Given the description of an element on the screen output the (x, y) to click on. 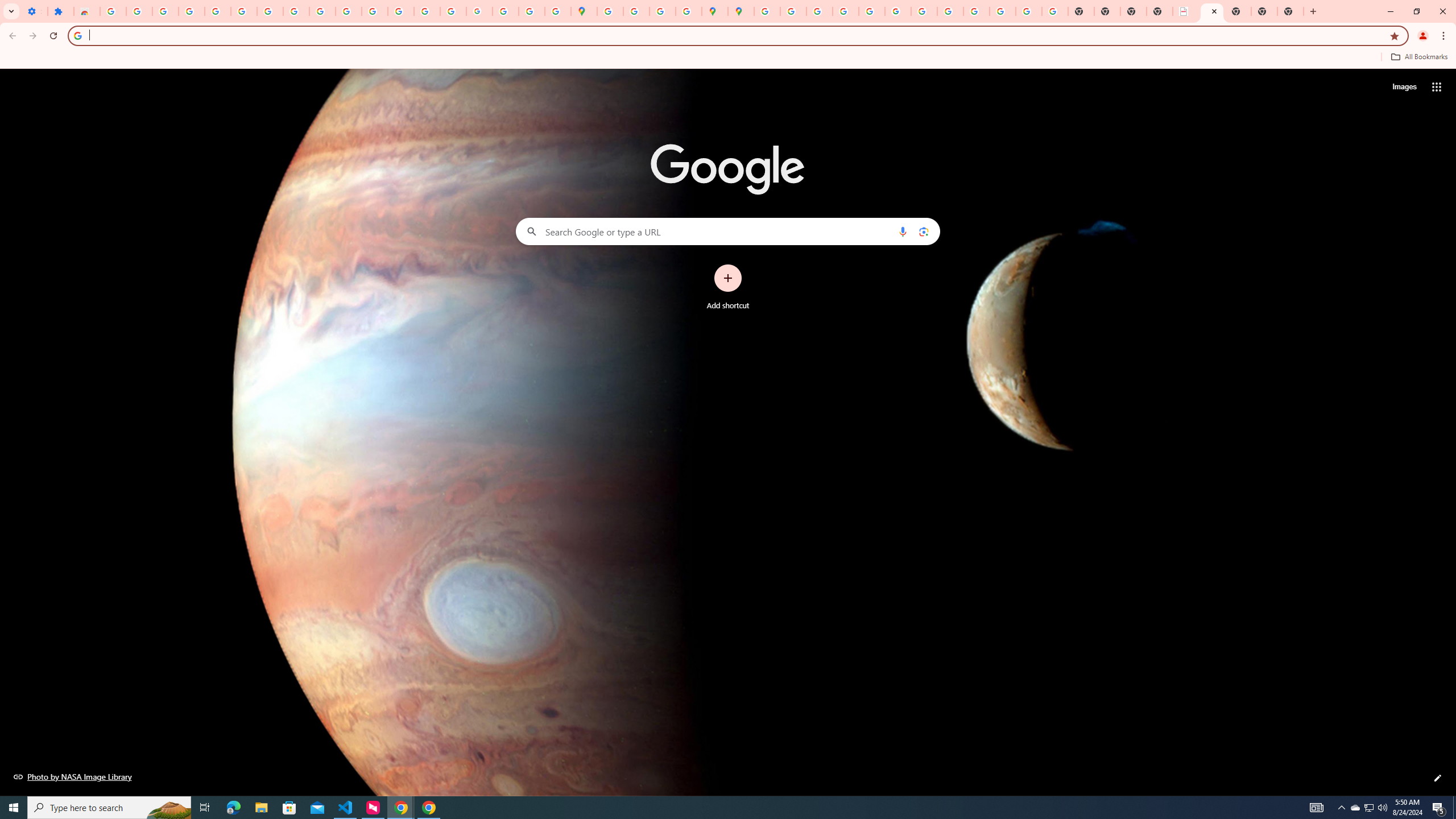
Sign in - Google Accounts (243, 11)
Google Account (296, 11)
Safety in Our Products - Google Safety Center (689, 11)
